Given the description of an element on the screen output the (x, y) to click on. 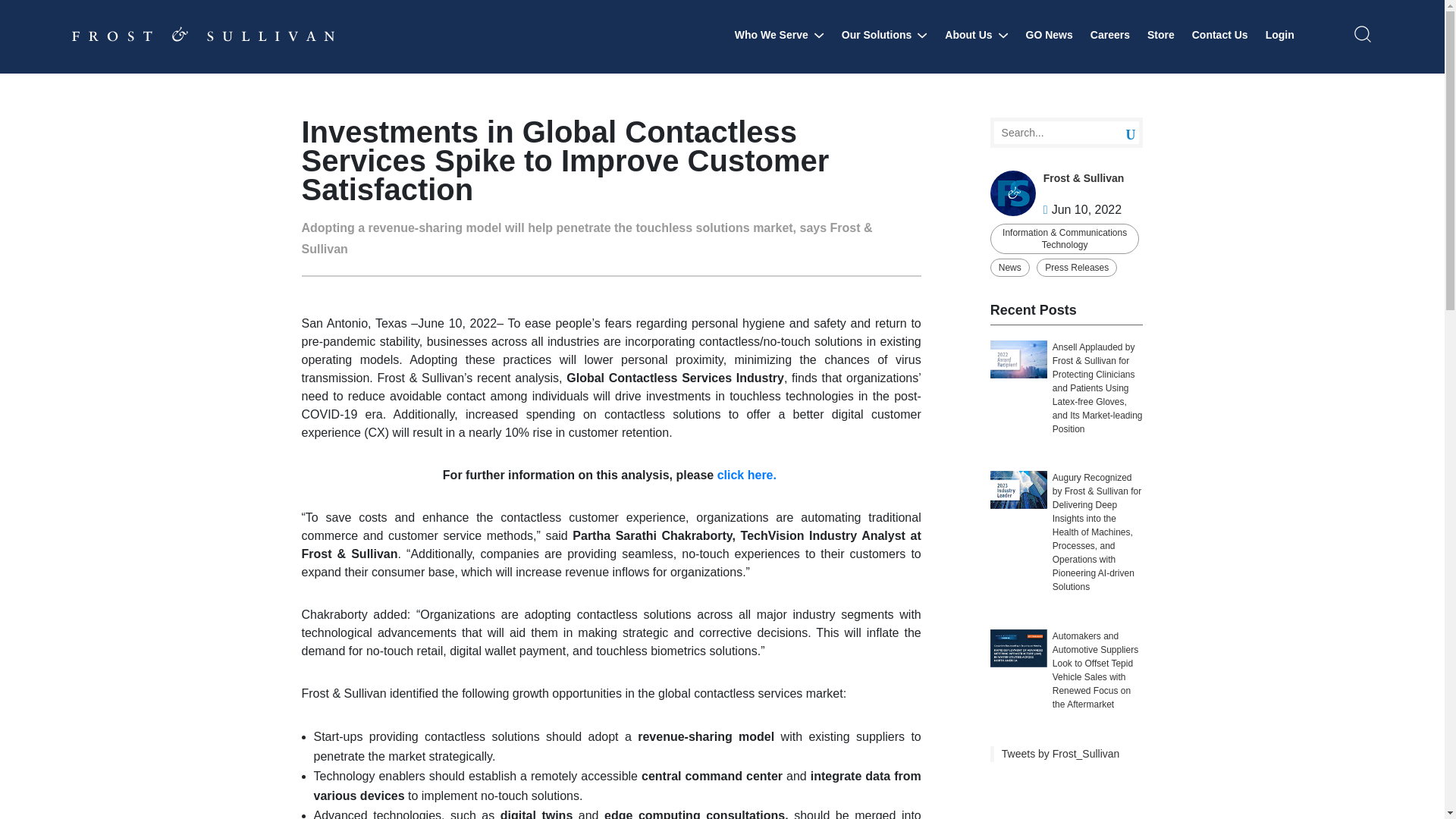
Who We Serve (779, 35)
Search (1118, 132)
